Given the description of an element on the screen output the (x, y) to click on. 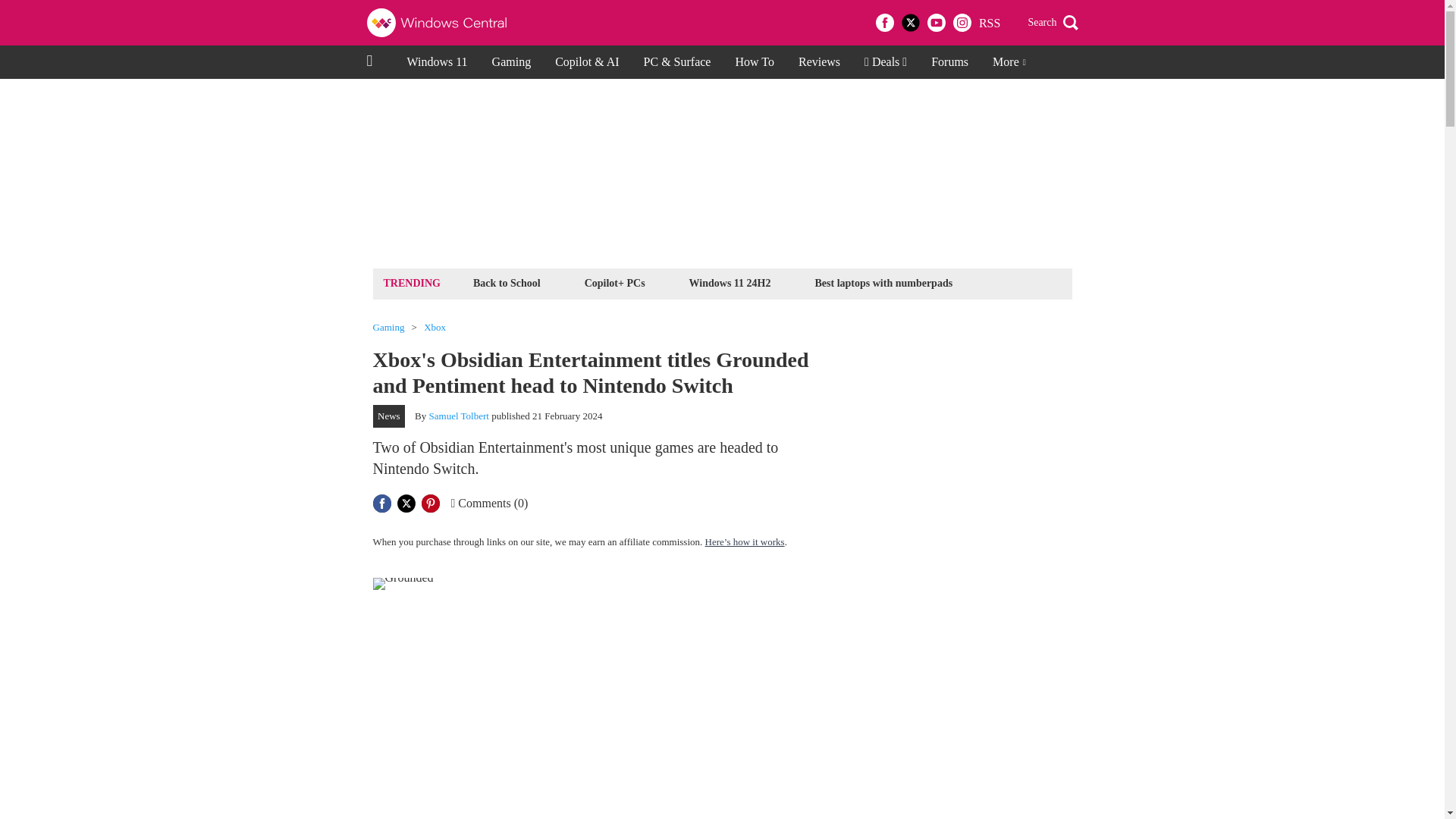
News (389, 415)
Reviews (818, 61)
Back to School (506, 282)
Windows 11 (436, 61)
Windows 11 24H2 (730, 282)
Samuel Tolbert (459, 415)
How To (754, 61)
Best laptops with numberpads (883, 282)
Gaming (511, 61)
Forums (948, 61)
